Given the description of an element on the screen output the (x, y) to click on. 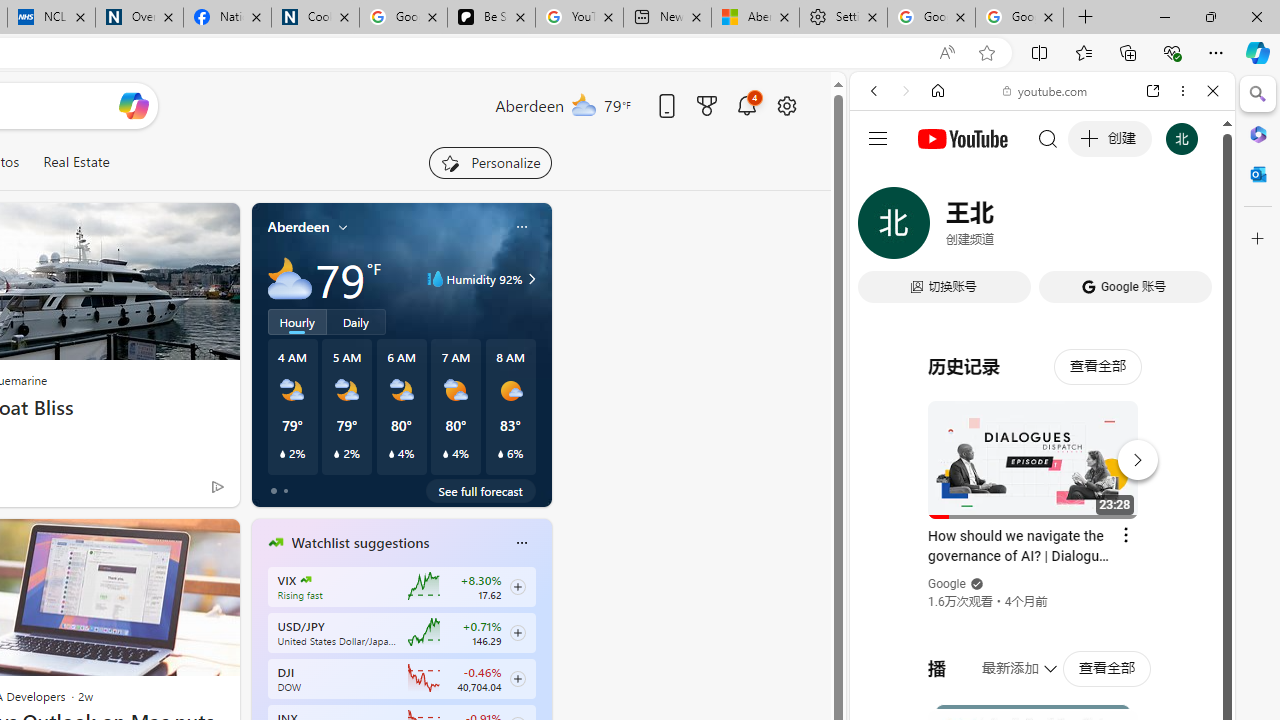
Class: weather-current-precipitation-glyph (500, 453)
Google (1042, 494)
Class: b_serphb (1190, 229)
VIDEOS (1006, 228)
Trailer #2 [HD] (1042, 594)
Microsoft rewards (707, 105)
